Given the description of an element on the screen output the (x, y) to click on. 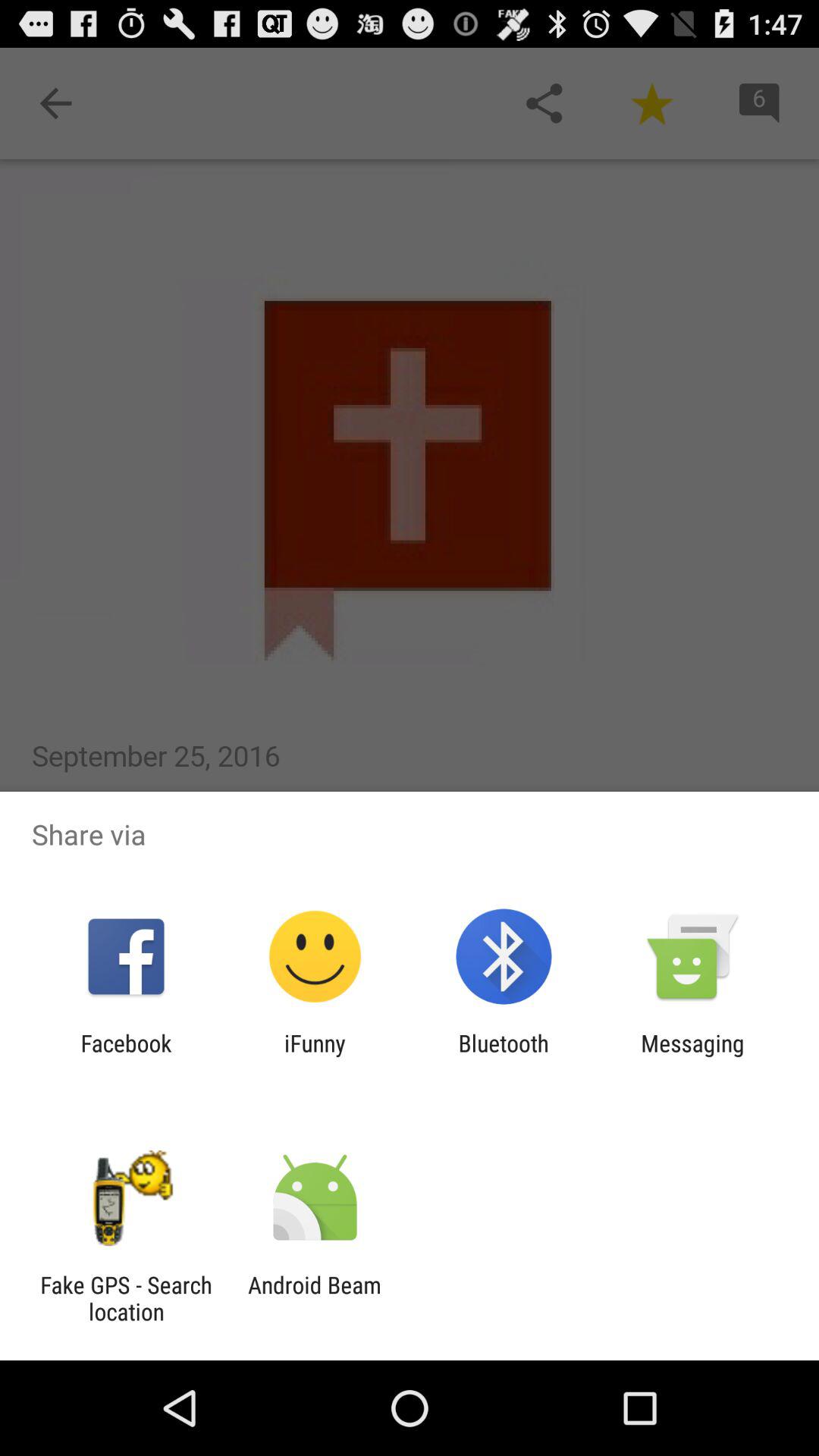
turn off item next to the bluetooth item (314, 1056)
